Given the description of an element on the screen output the (x, y) to click on. 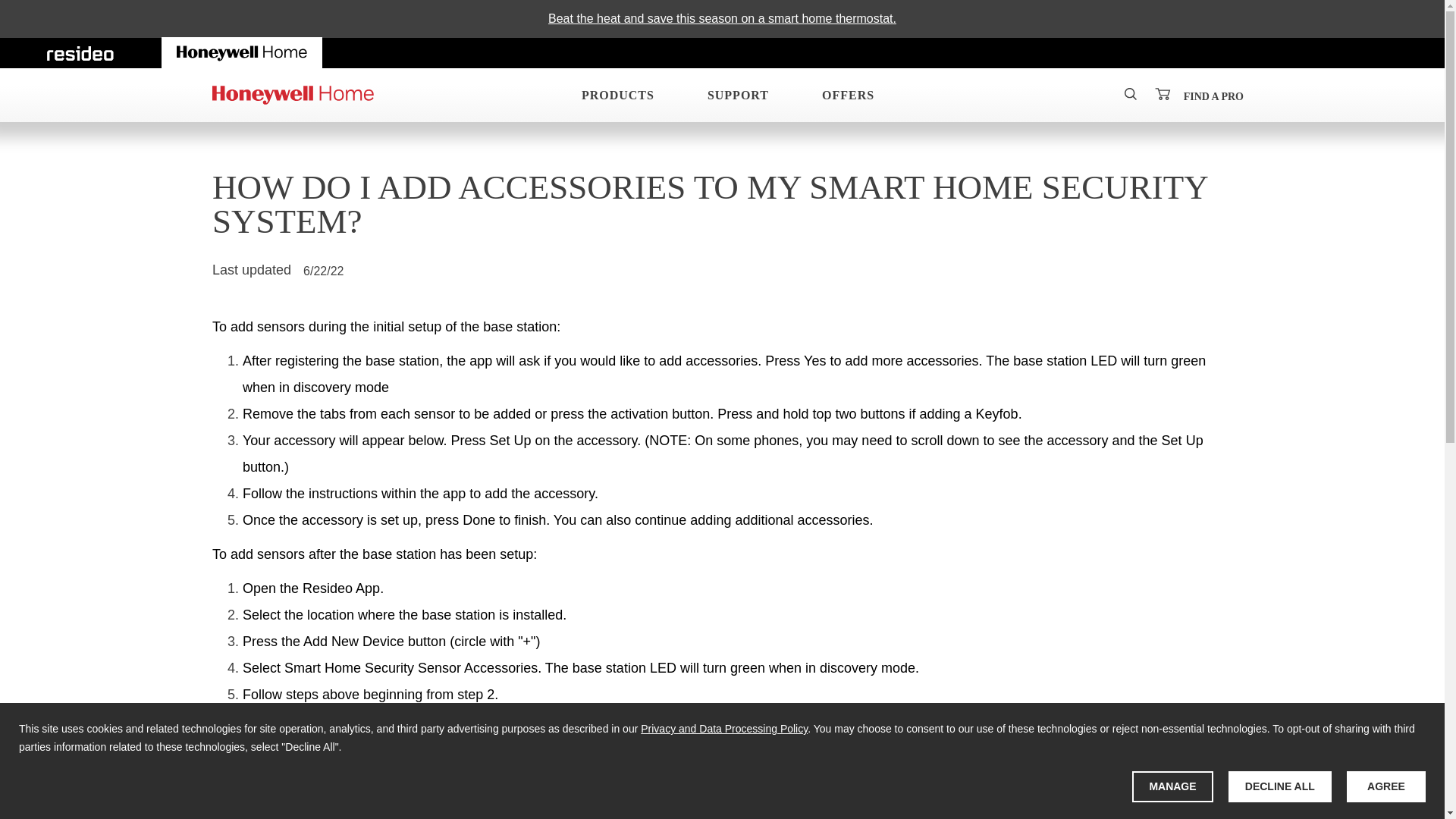
Resideo home page (80, 52)
Search Button (1130, 93)
Home (293, 94)
Honeywell Home home page (242, 52)
PRODUCTS (611, 94)
FIND A PRO (1213, 96)
